Given the description of an element on the screen output the (x, y) to click on. 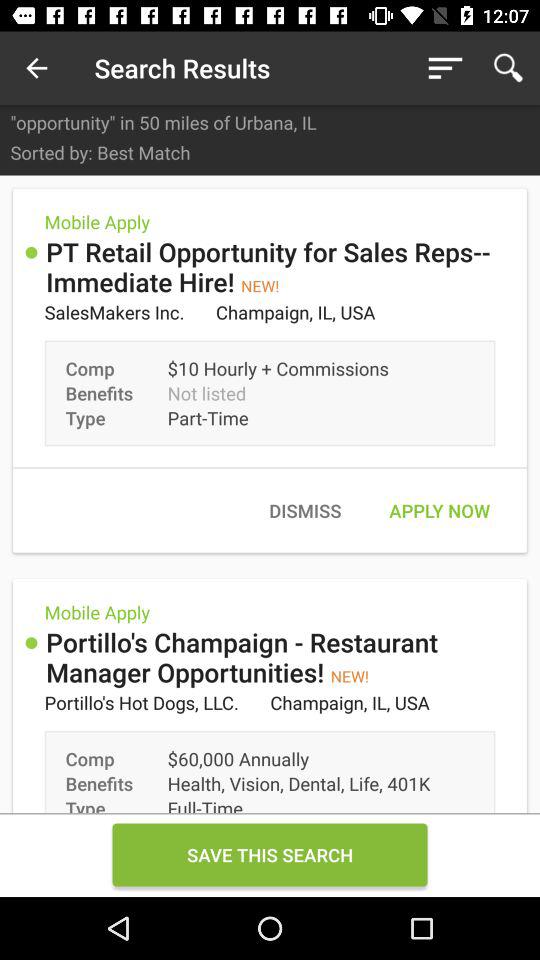
turn off item on the right (439, 510)
